Given the description of an element on the screen output the (x, y) to click on. 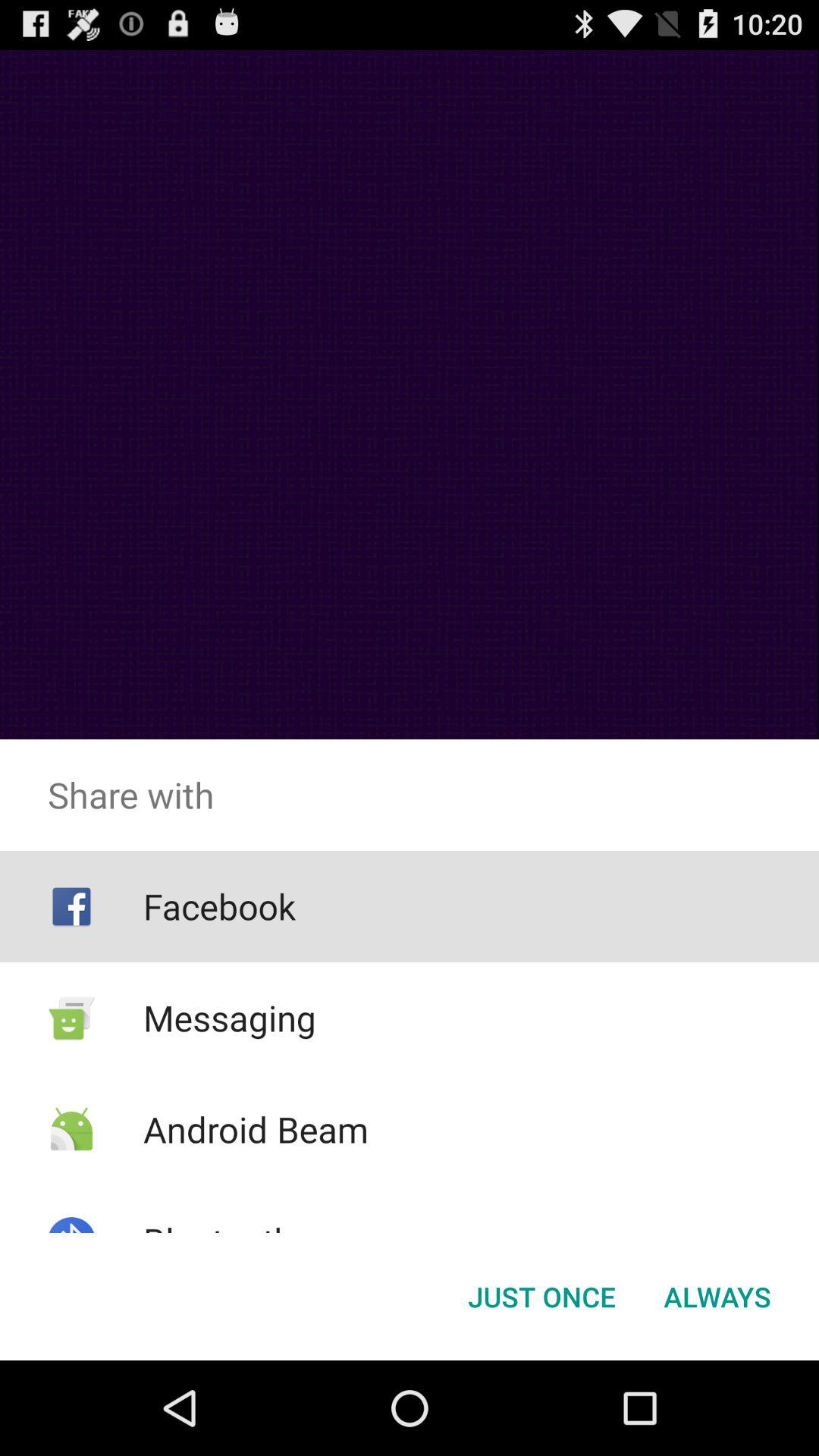
press the icon to the right of the bluetooth icon (541, 1296)
